Given the description of an element on the screen output the (x, y) to click on. 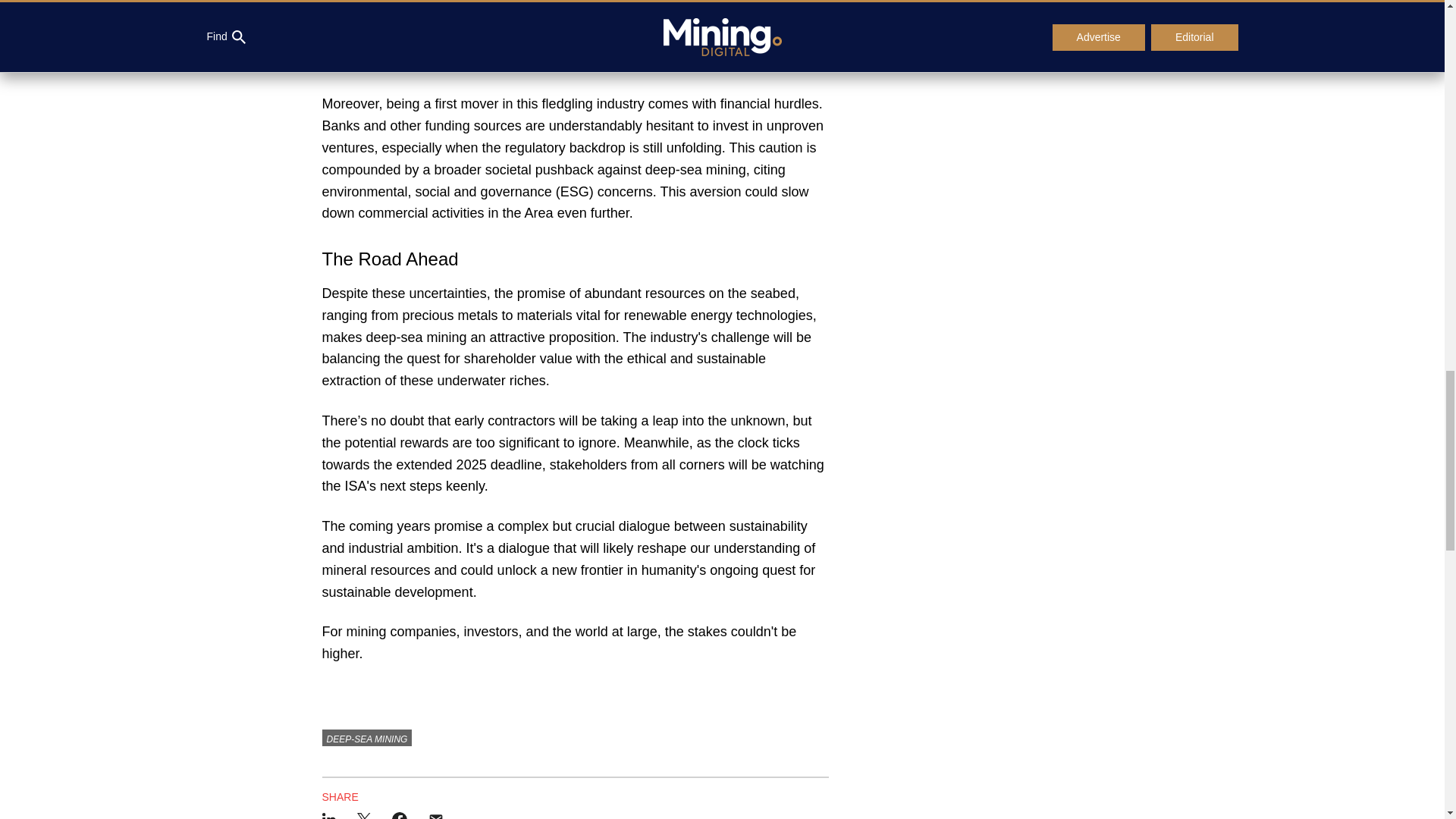
DEEP-SEA MINING (366, 737)
